Given the description of an element on the screen output the (x, y) to click on. 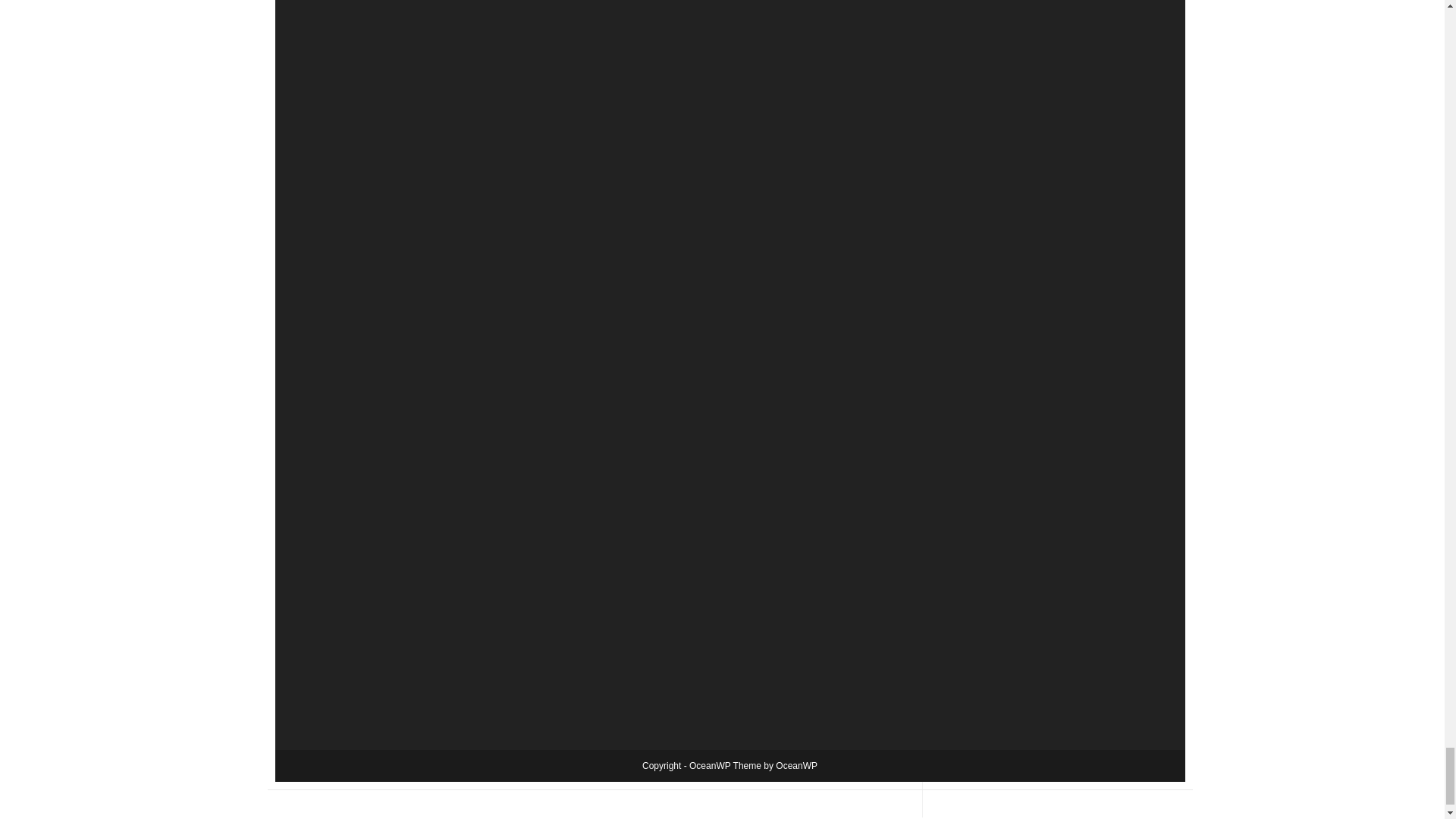
March 2020 (978, 106)
September 2019 (988, 212)
April 2020 (974, 89)
June 2020 (975, 52)
September 2020 (988, 2)
December 2019 (987, 159)
November 2019 (987, 177)
August 2020 (979, 17)
February 2020 (984, 123)
January 2020 (981, 142)
